Given the description of an element on the screen output the (x, y) to click on. 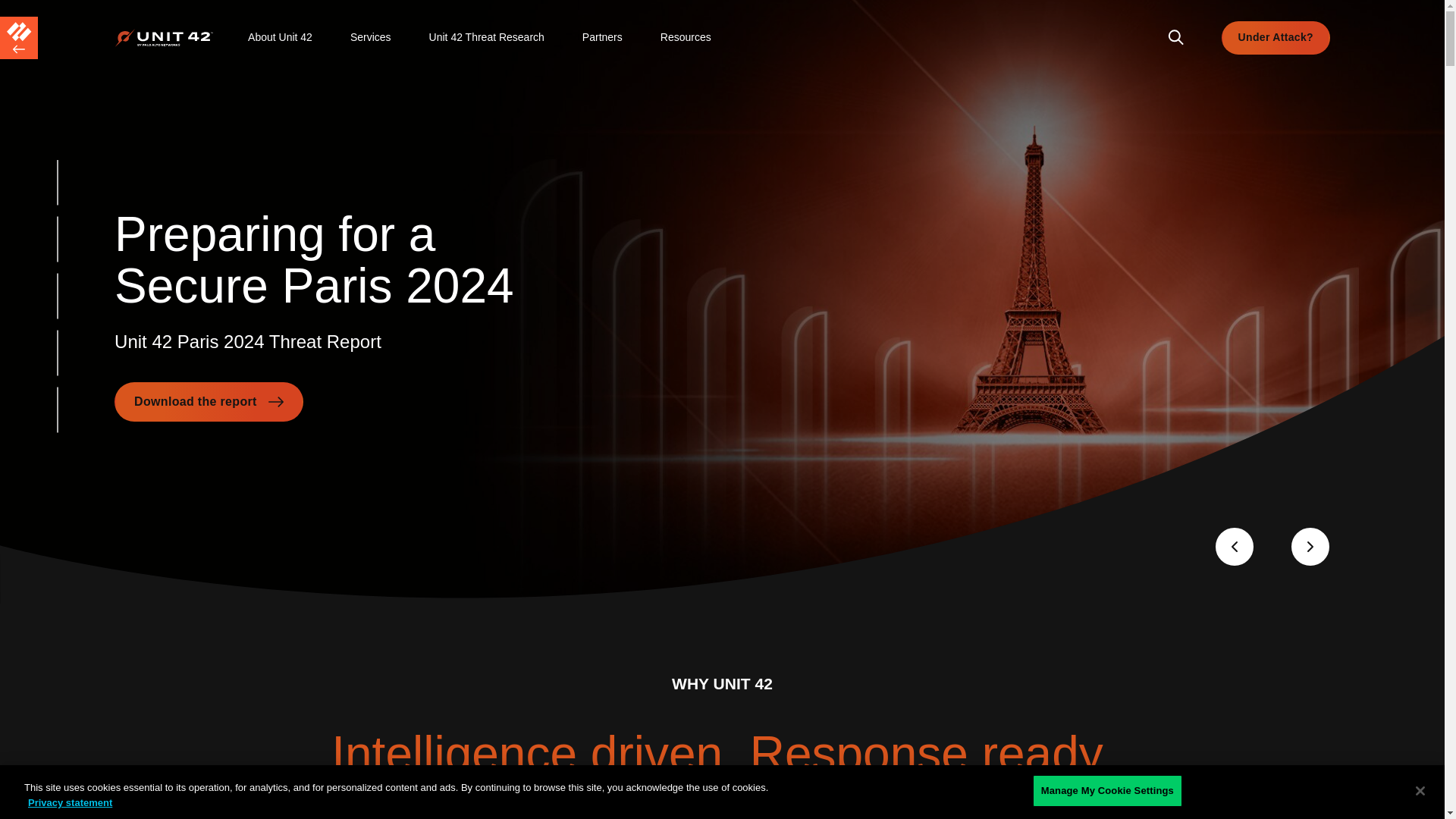
Services (370, 38)
About Unit 42 (279, 38)
Unit 42 Threat Research (486, 38)
